Given the description of an element on the screen output the (x, y) to click on. 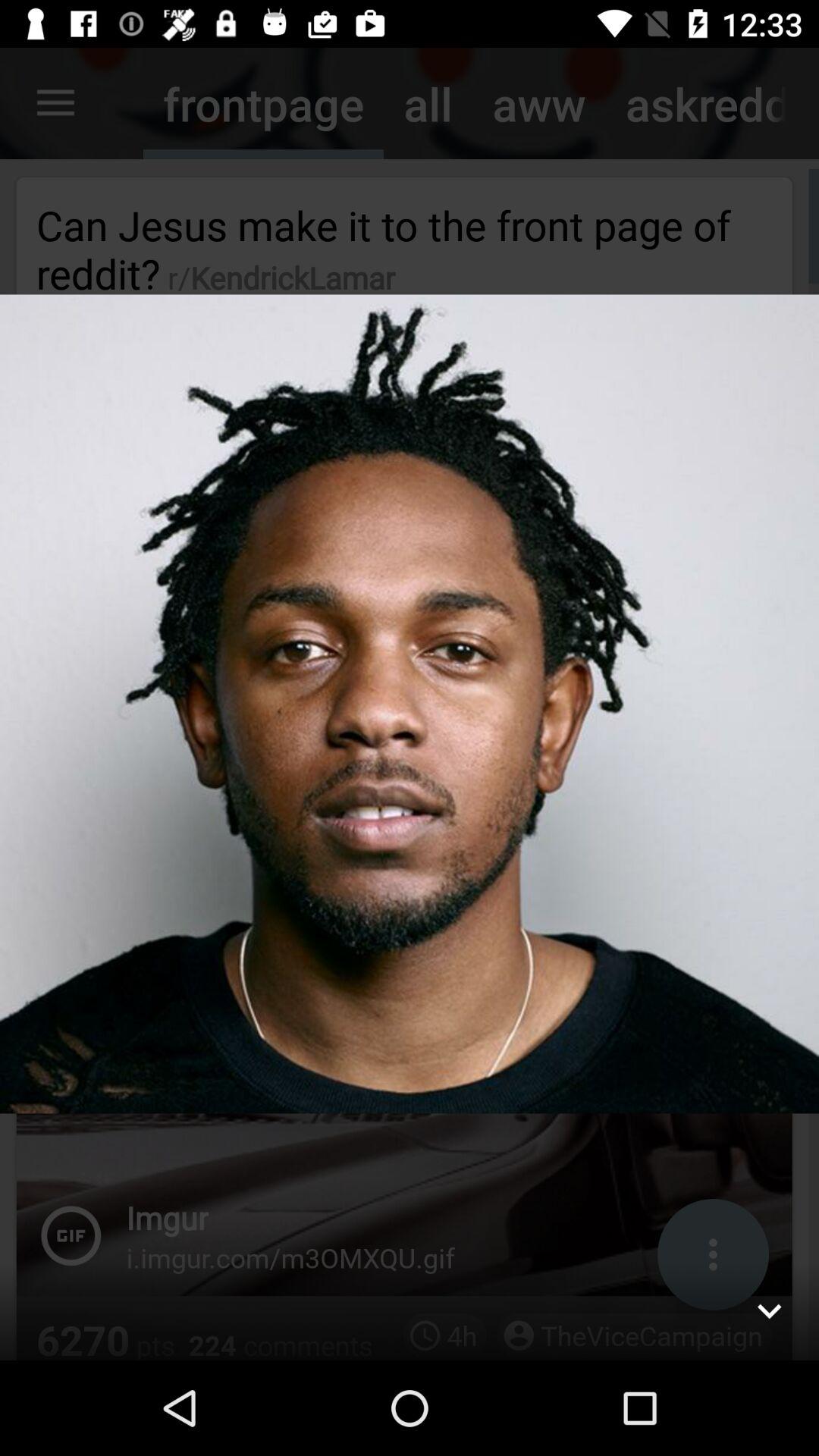
close picture (769, 1310)
